Given the description of an element on the screen output the (x, y) to click on. 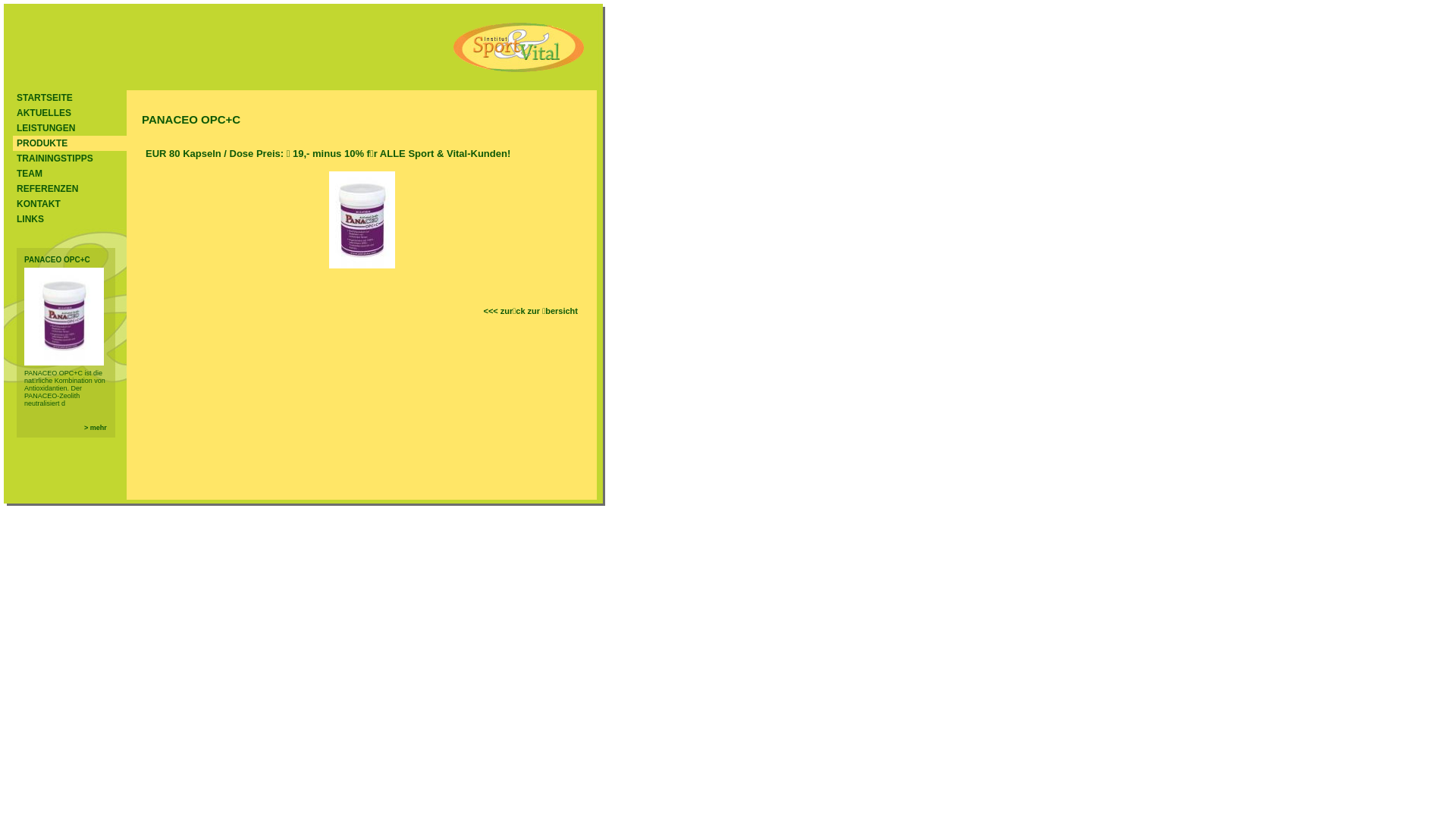
AKTUELLES Element type: text (69, 112)
TEAM Element type: text (69, 173)
> mehr Element type: text (95, 427)
LINKS Element type: text (69, 218)
PRODUKTE Element type: text (69, 142)
TRAININGSTIPPS Element type: text (69, 158)
STARTSEITE Element type: text (69, 97)
KONTAKT Element type: text (69, 203)
REFERENZEN Element type: text (69, 188)
LEISTUNGEN Element type: text (69, 127)
